Given the description of an element on the screen output the (x, y) to click on. 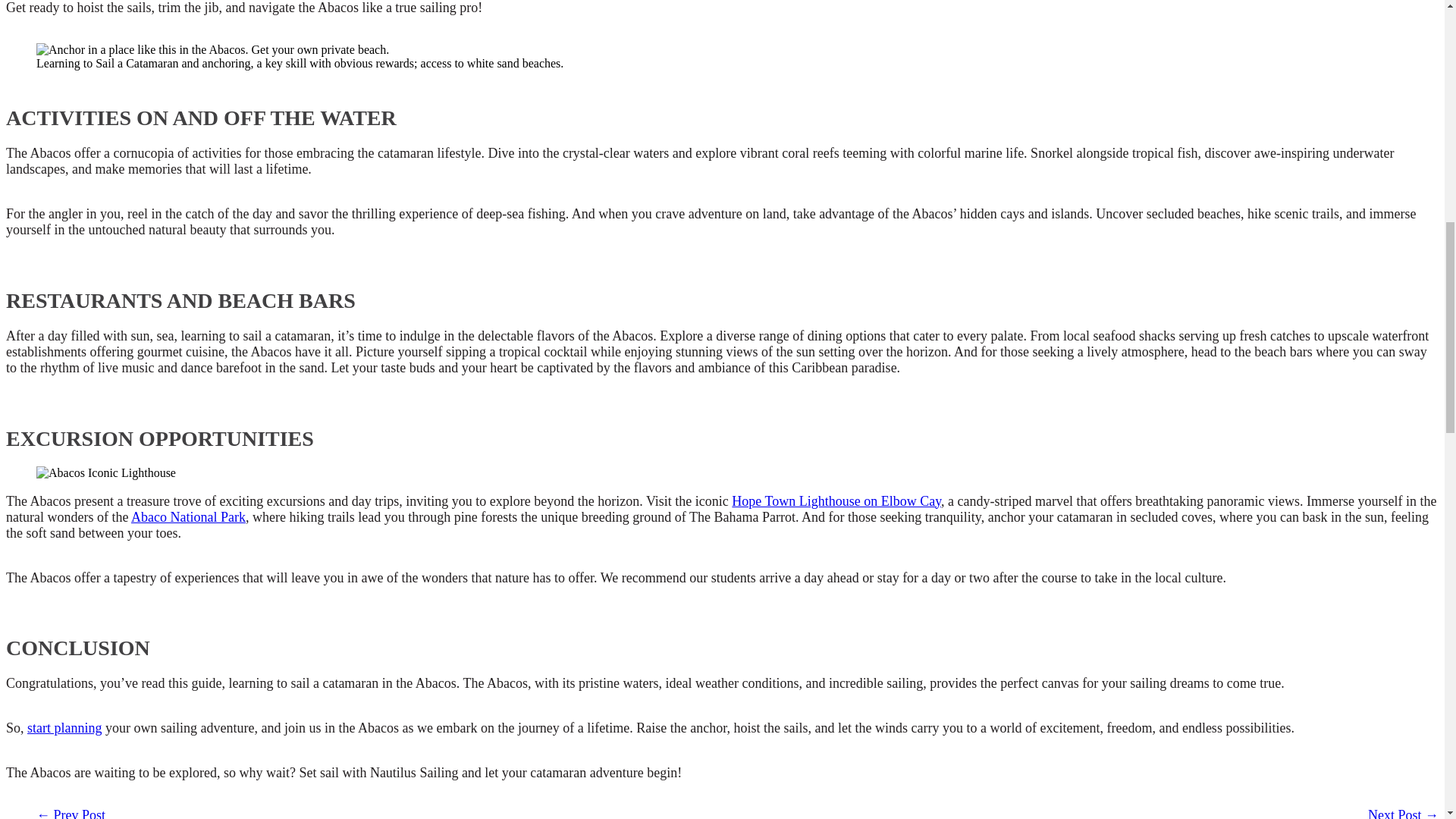
start planning (64, 727)
Hope Town Lighthouse on Elbow Cay (836, 500)
Hope Town (106, 472)
Abaco National Park (188, 516)
Perfect Anchorage with a private beach.  (212, 49)
